Given the description of an element on the screen output the (x, y) to click on. 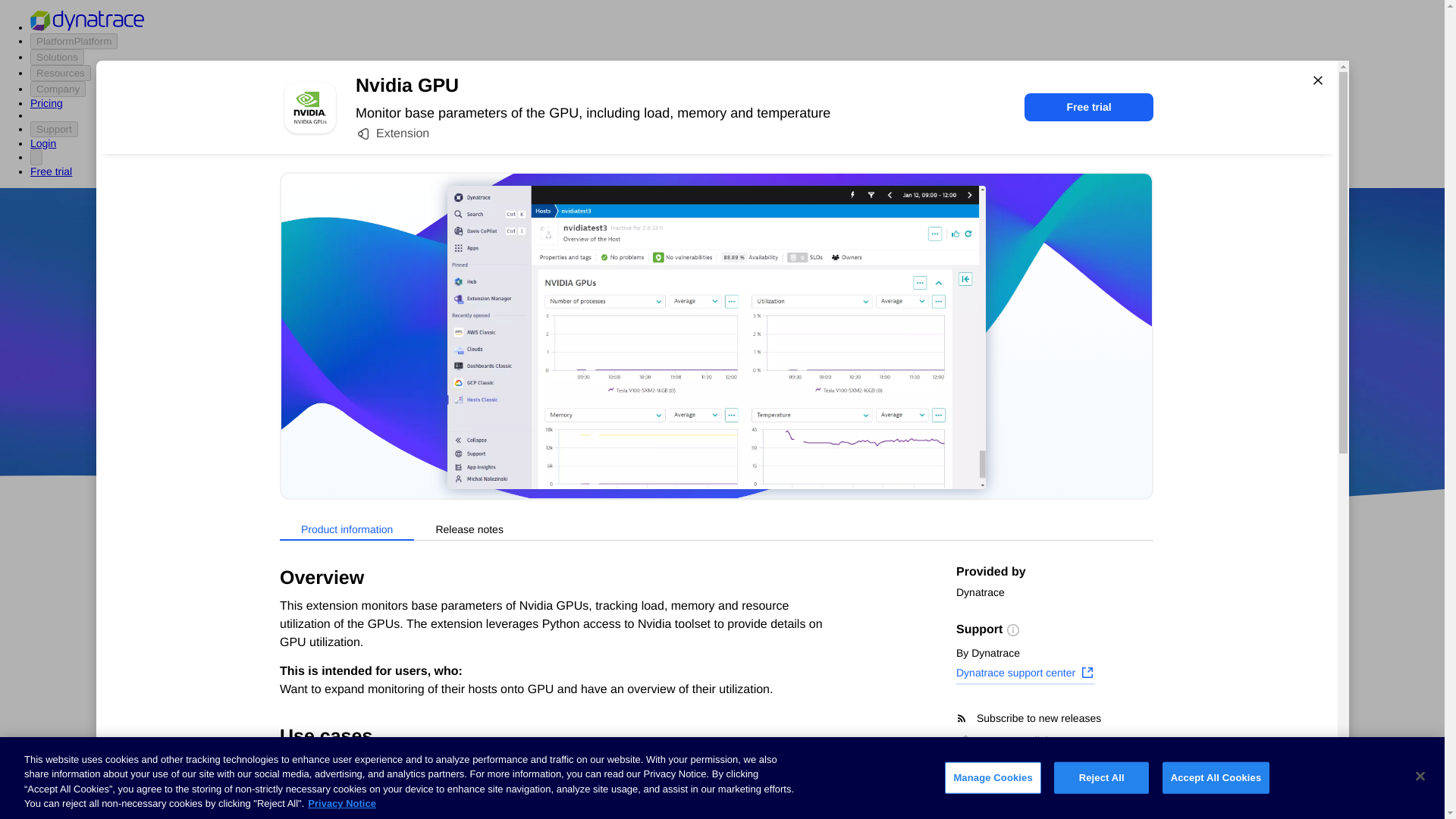
Wipro (840, 375)
Copy page link (1003, 740)
Free trial (1089, 107)
Log Management and Analytics (345, 727)
Kubernetes (295, 755)
Infrastructure Observability (335, 809)
Google Cloud (751, 418)
AWS (637, 418)
 artificial-intelligence machine-learning (607, 778)
Get data into Dynatrace (325, 641)
Certified Partners (309, 612)
Wipro (840, 375)
Dynatrace support center (1025, 674)
Azure (681, 418)
Build your own app (314, 669)
